Given the description of an element on the screen output the (x, y) to click on. 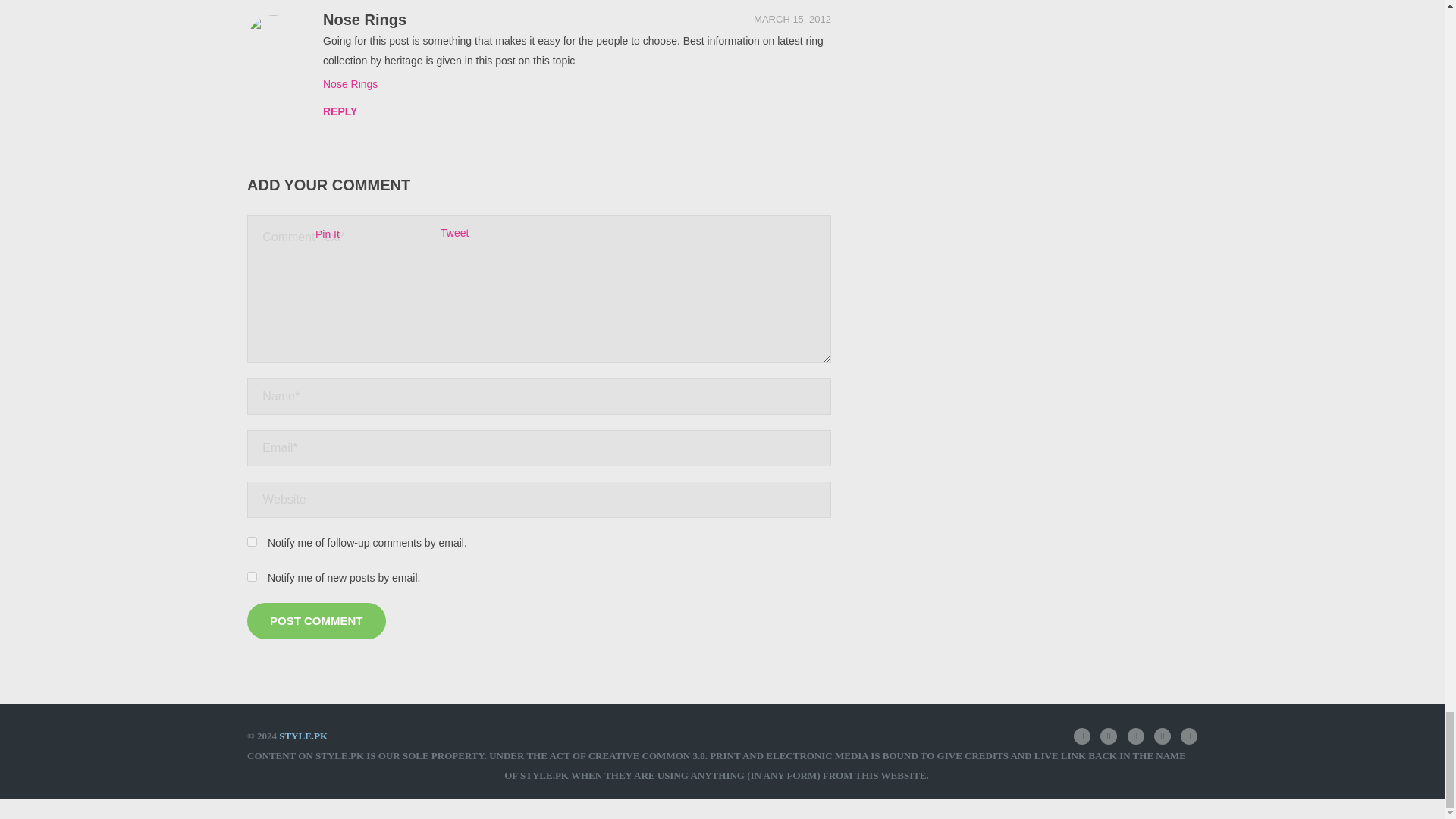
Post Comment (316, 620)
subscribe (252, 575)
subscribe (252, 541)
